Given the description of an element on the screen output the (x, y) to click on. 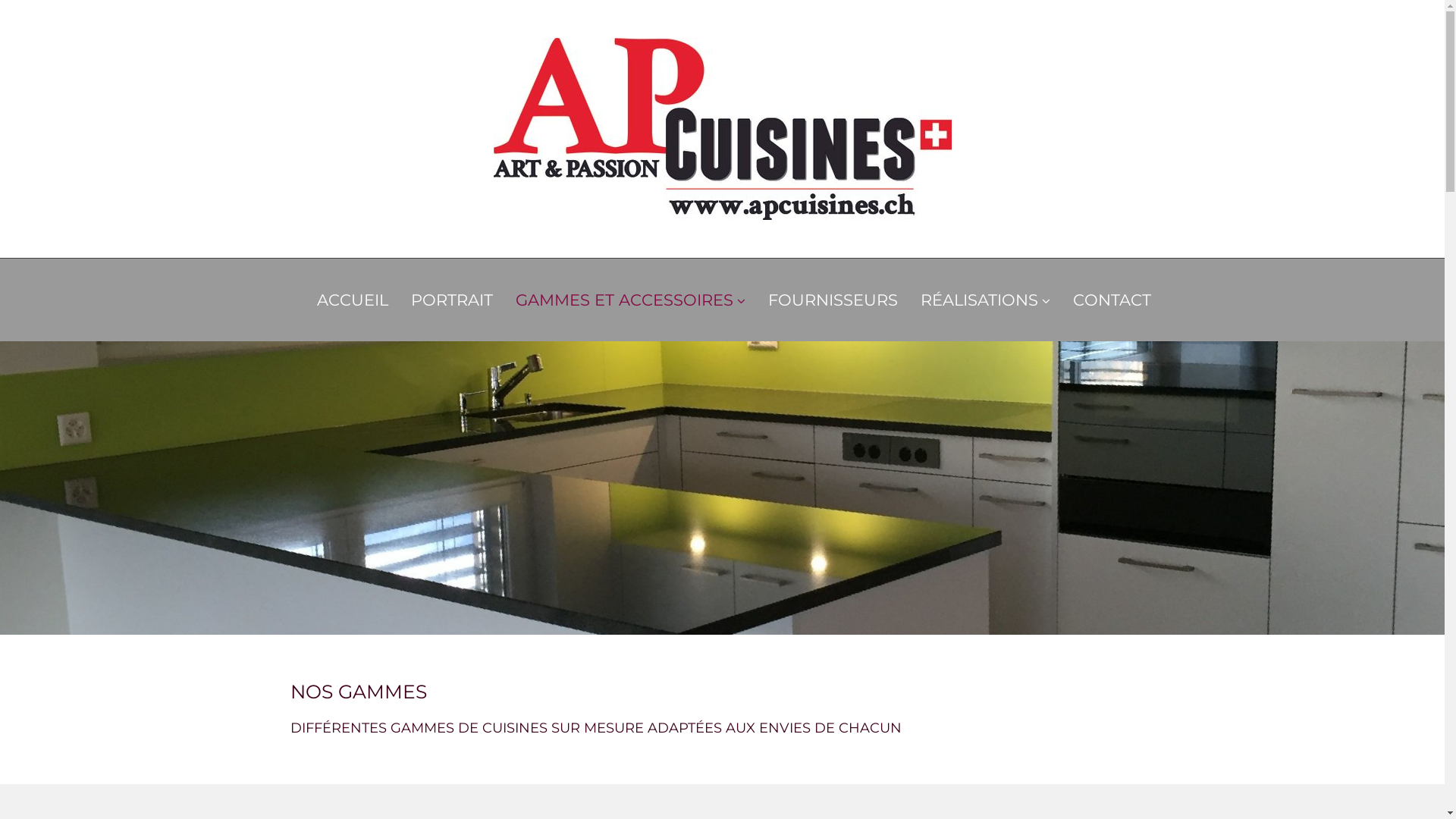
FOURNISSEURS Element type: text (832, 299)
GAMMES ET ACCESSOIRES Element type: text (630, 299)
ACCUEIL Element type: text (352, 299)
PORTRAIT Element type: text (451, 299)
CONTACT Element type: text (1111, 299)
